Given the description of an element on the screen output the (x, y) to click on. 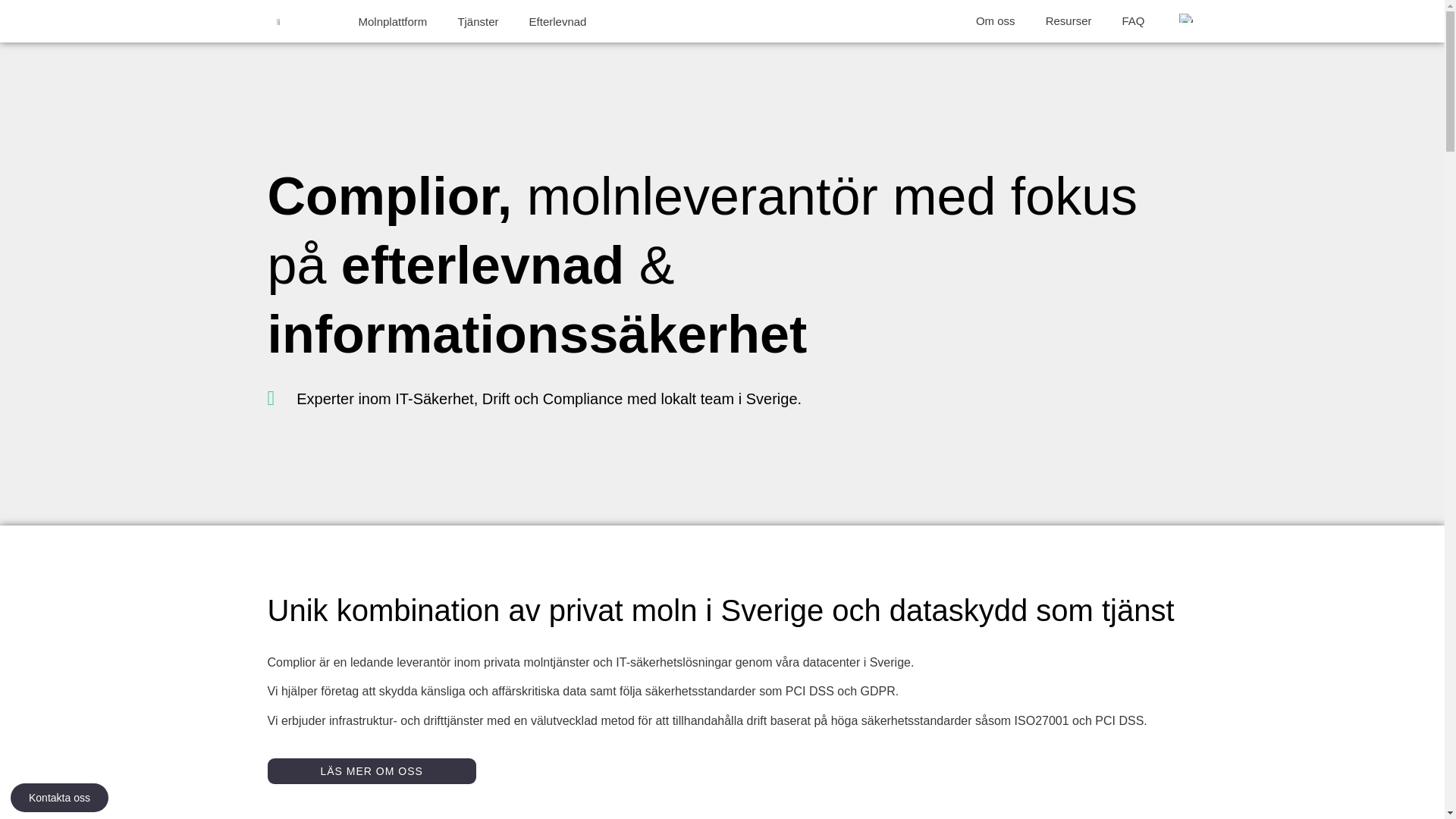
Efterlevnad Element type: text (558, 20)
Om oss Element type: text (995, 20)
Resurser Element type: text (1068, 20)
English (UK) Element type: hover (1185, 17)
Molnplattform Element type: text (392, 20)
Kontakta oss Element type: text (59, 797)
FAQ Element type: text (1132, 20)
